Given the description of an element on the screen output the (x, y) to click on. 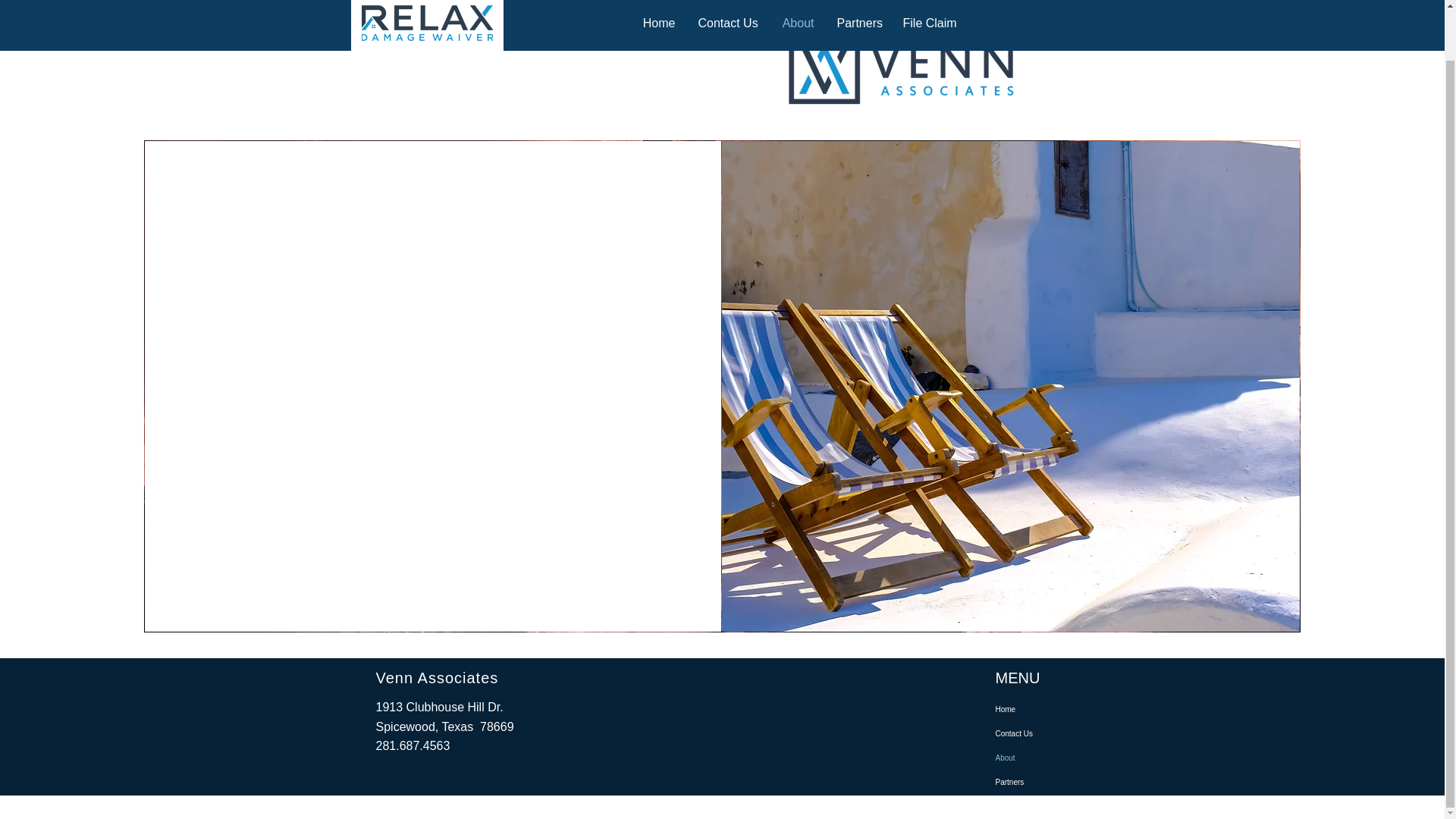
Contact Us (1037, 733)
Home (1037, 709)
Partners (1037, 782)
Venn Associates (437, 677)
About (1037, 758)
